Given the description of an element on the screen output the (x, y) to click on. 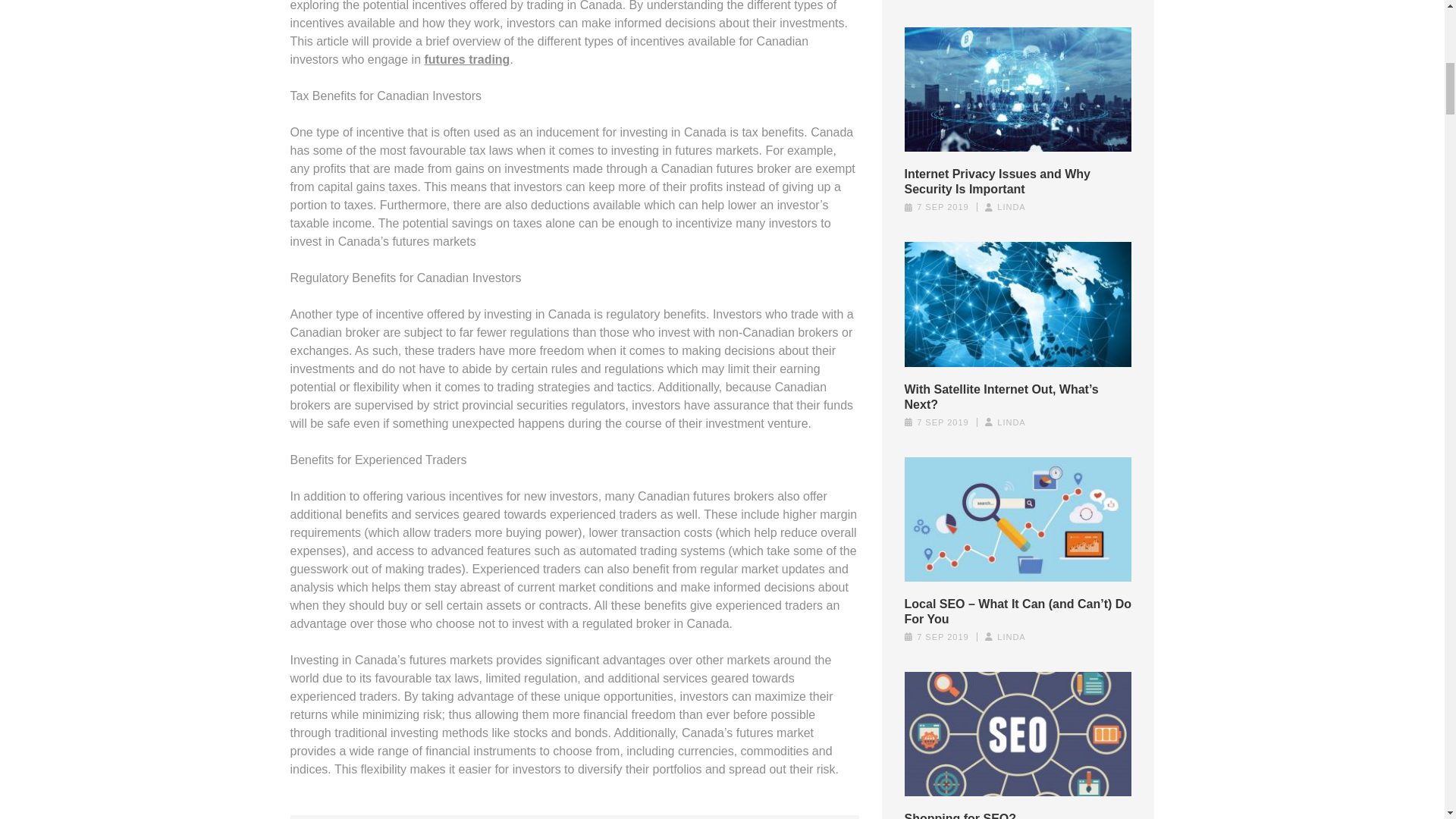
futures trading (468, 59)
